Given the description of an element on the screen output the (x, y) to click on. 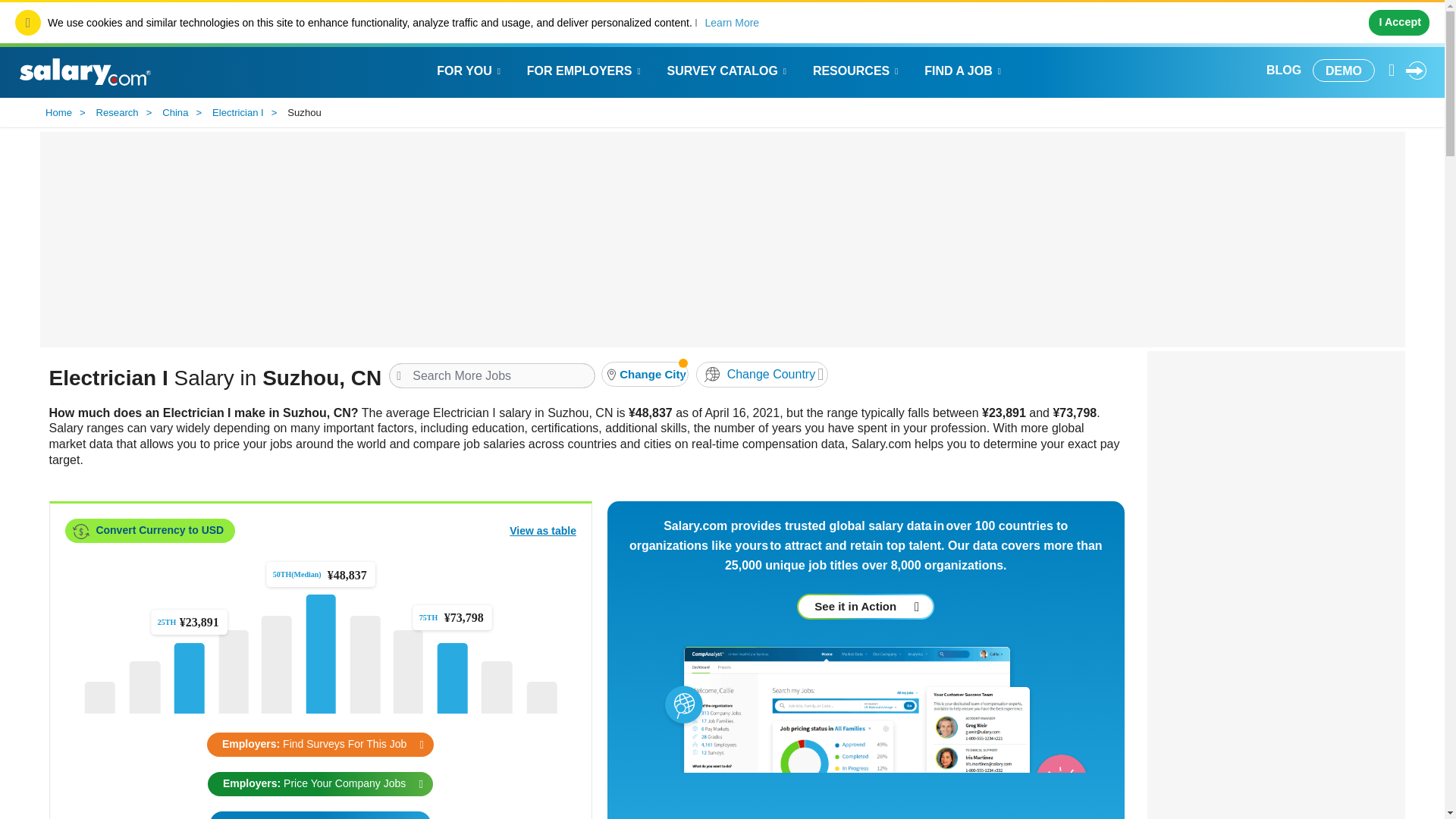
Research (120, 113)
China (177, 113)
View as table (542, 530)
Home (61, 113)
FIND A JOB (963, 70)
SURVEY CATALOG (727, 70)
Change City (644, 373)
BLOG (1283, 69)
Change Country (761, 374)
Learn More (732, 22)
